Given the description of an element on the screen output the (x, y) to click on. 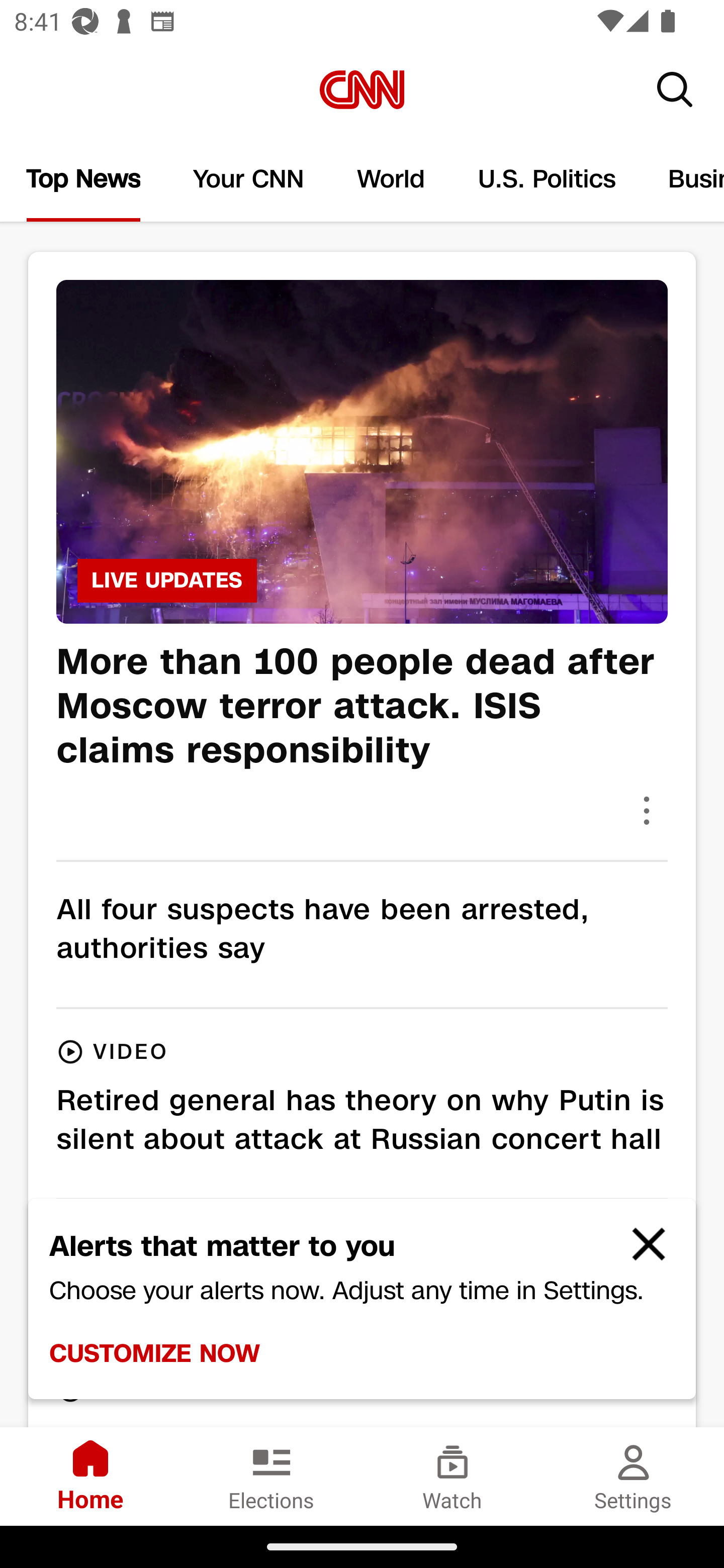
Your CNN (248, 179)
World (390, 179)
U.S. Politics (546, 179)
More actions (646, 810)
close (639, 1251)
Elections (271, 1475)
Watch (452, 1475)
Settings (633, 1475)
